Given the description of an element on the screen output the (x, y) to click on. 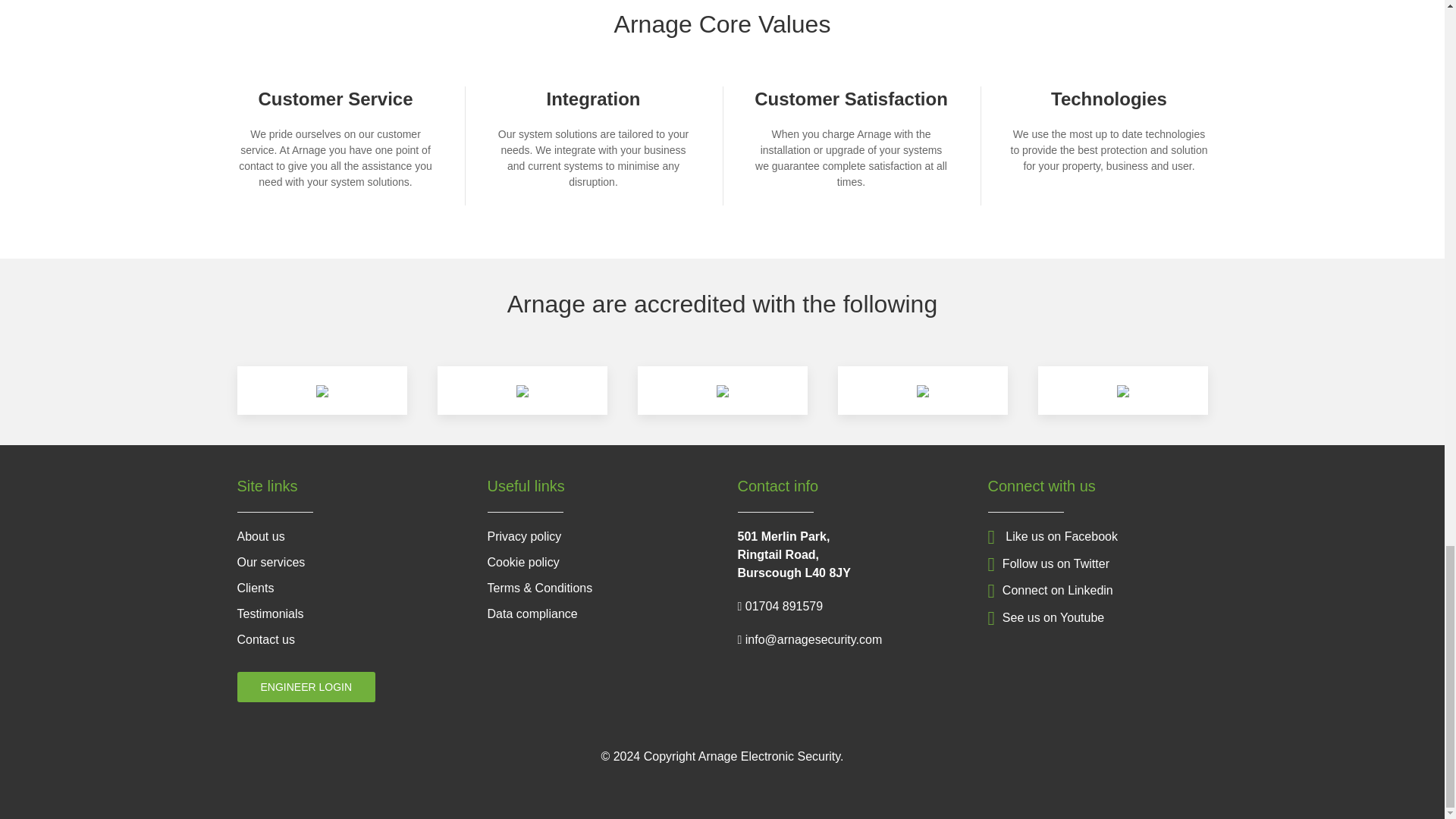
Testimonials (268, 613)
ENGINEER LOGIN (305, 686)
Cookie policy (522, 562)
Contact us (264, 639)
Clients (254, 587)
Follow us on Twitter (1047, 563)
Our services (269, 562)
Like us on Facebook (1051, 535)
Connect on Linkedin (1049, 590)
Privacy policy (523, 535)
Data compliance (531, 613)
About us (259, 535)
